Given the description of an element on the screen output the (x, y) to click on. 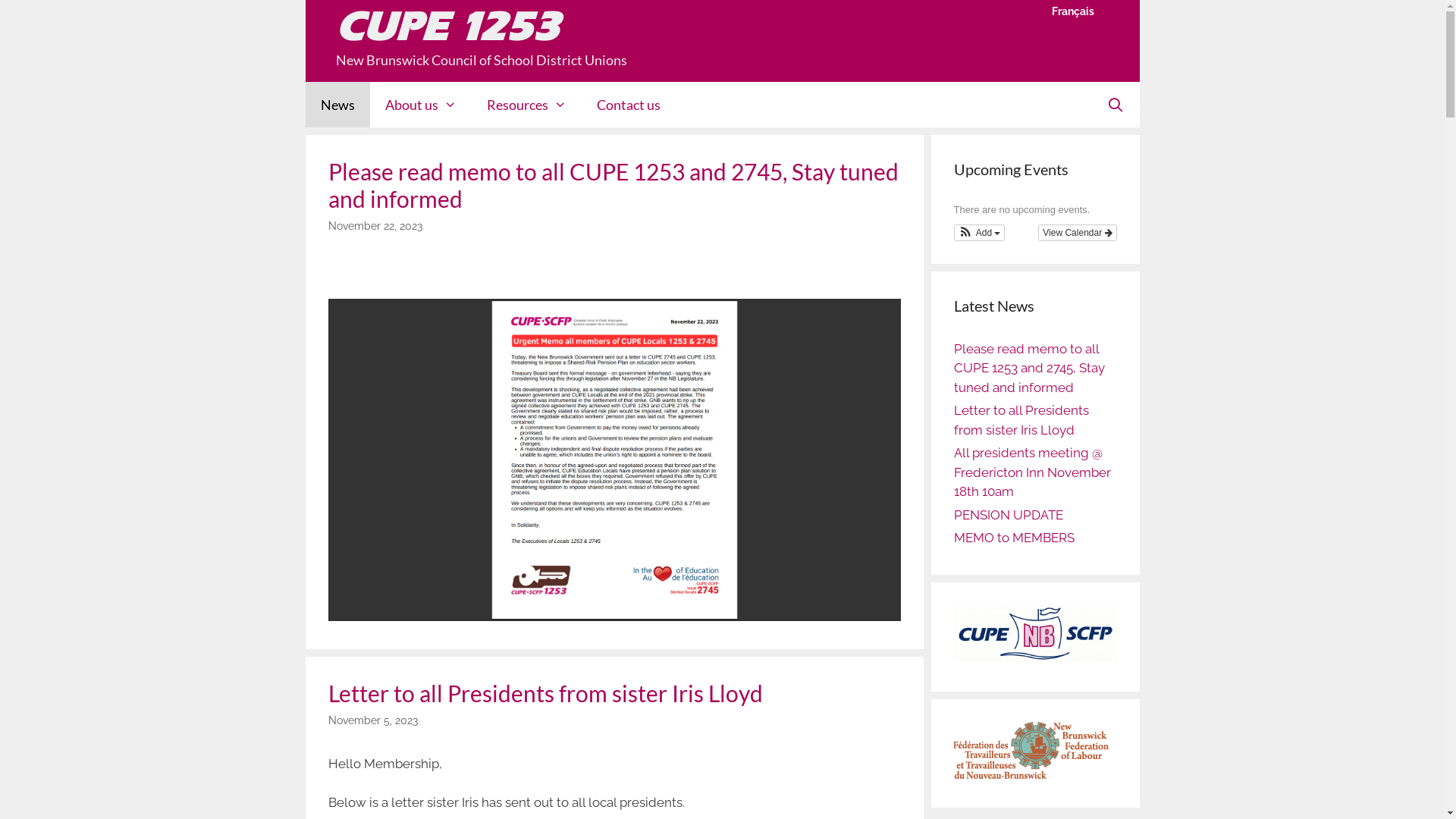
November 22, 2023 Element type: text (374, 225)
Letter to all Presidents from sister Iris Lloyd Element type: text (1020, 419)
MEMO to MEMBERS Element type: text (1013, 537)
PENSION UPDATE Element type: text (1008, 514)
News Element type: text (336, 104)
Letter to all Presidents from sister Iris Lloyd Element type: text (544, 692)
Resources Element type: text (526, 104)
All presidents meeting @ Fredericton Inn November 18th 10am Element type: text (1031, 471)
View Calendar Element type: text (1077, 232)
About us Element type: text (420, 104)
Skip to content Element type: text (0, 0)
Contact us Element type: text (628, 104)
CUPE 1253 Element type: text (446, 26)
November 5, 2023 Element type: text (372, 719)
